Given the description of an element on the screen output the (x, y) to click on. 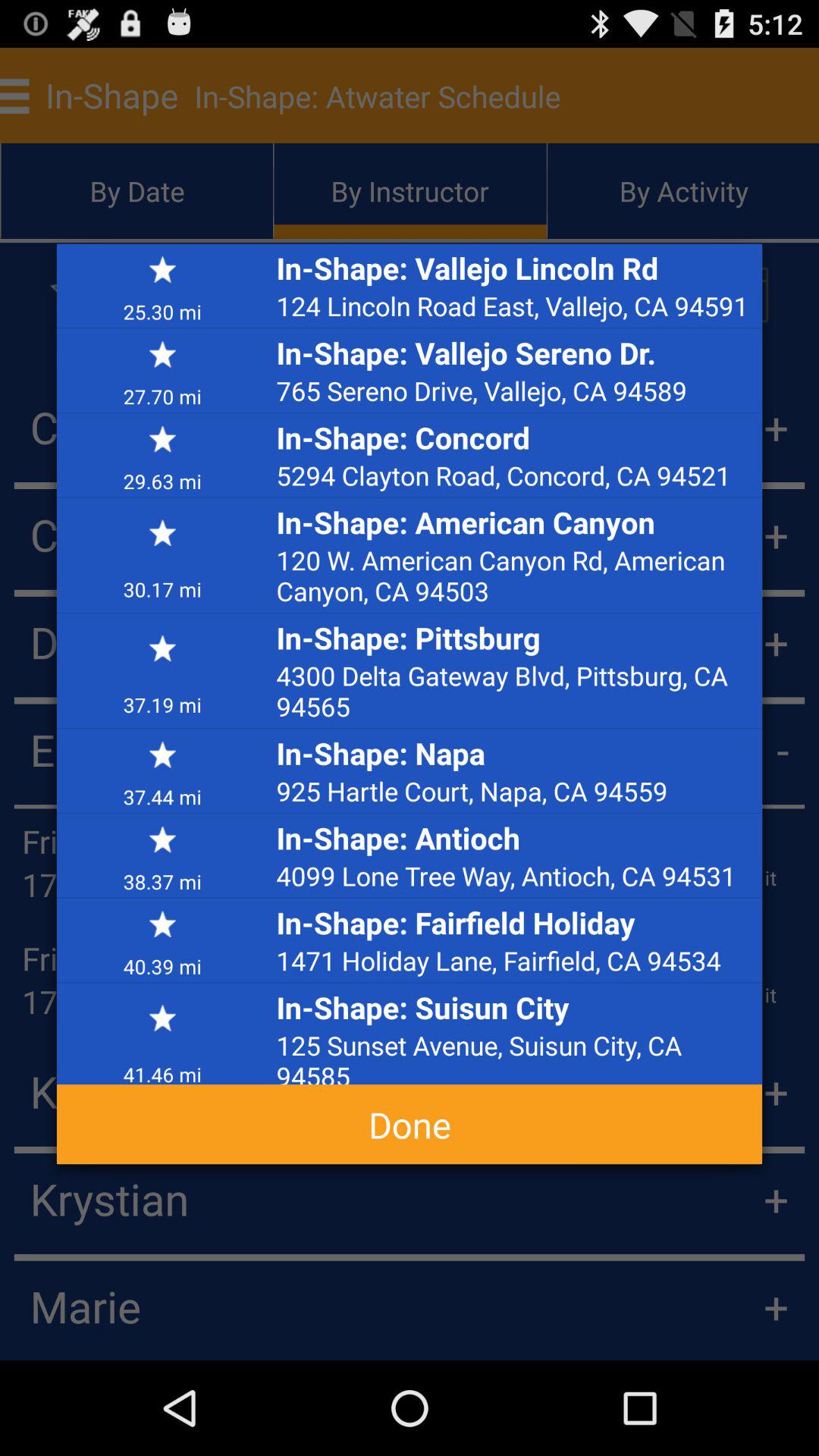
turn off the app below in shape vallejo item (515, 305)
